Given the description of an element on the screen output the (x, y) to click on. 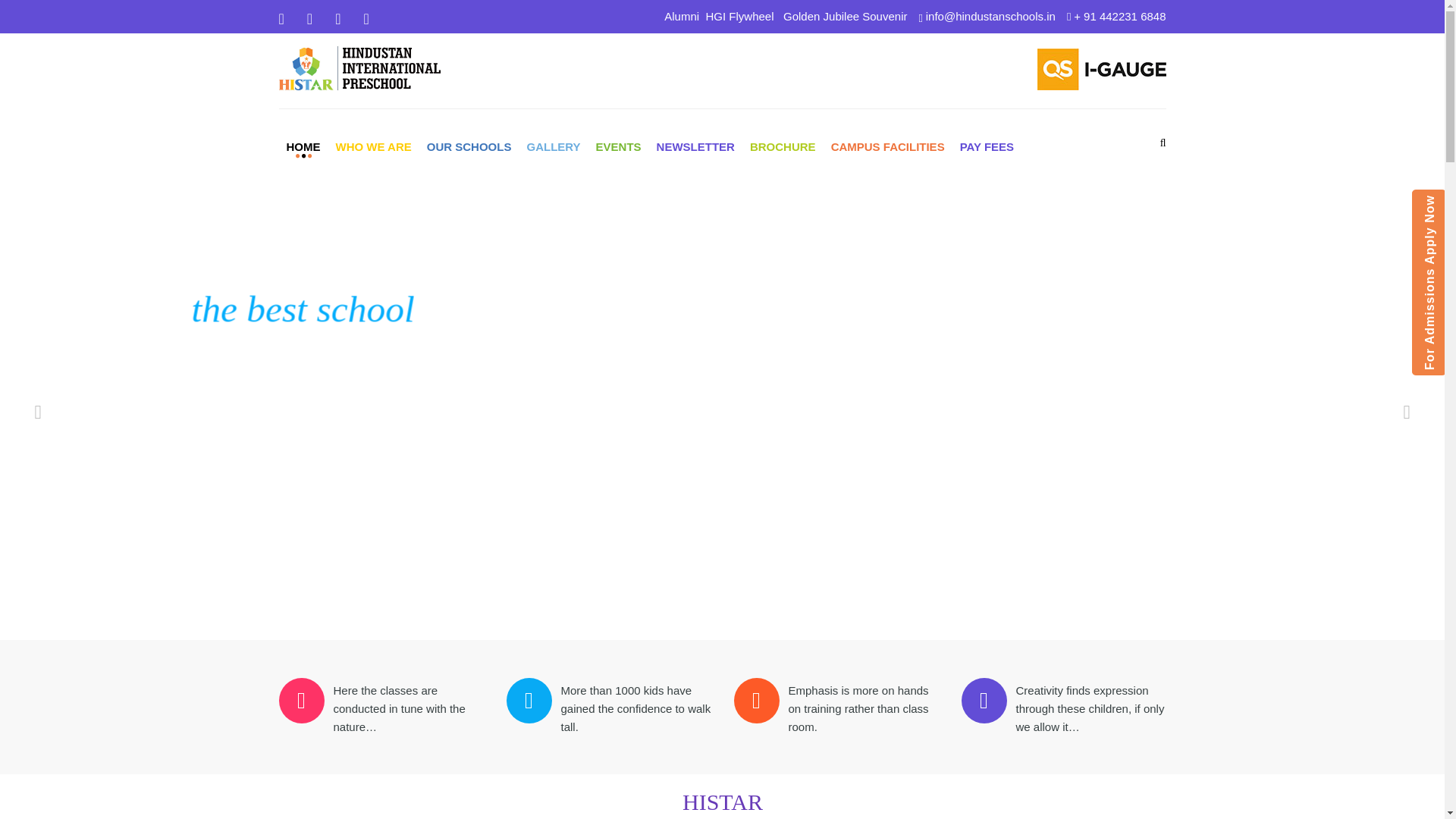
PAY FEES (987, 146)
BROCHURE (783, 146)
WHO WE ARE (373, 146)
Alumni (680, 15)
NEWSLETTER (695, 146)
HGI Flywheel (738, 15)
Golden Jubilee Souvenir (845, 15)
CAMPUS FACILITIES (888, 146)
GALLERY (553, 146)
OUR SCHOOLS (469, 146)
